Given the description of an element on the screen output the (x, y) to click on. 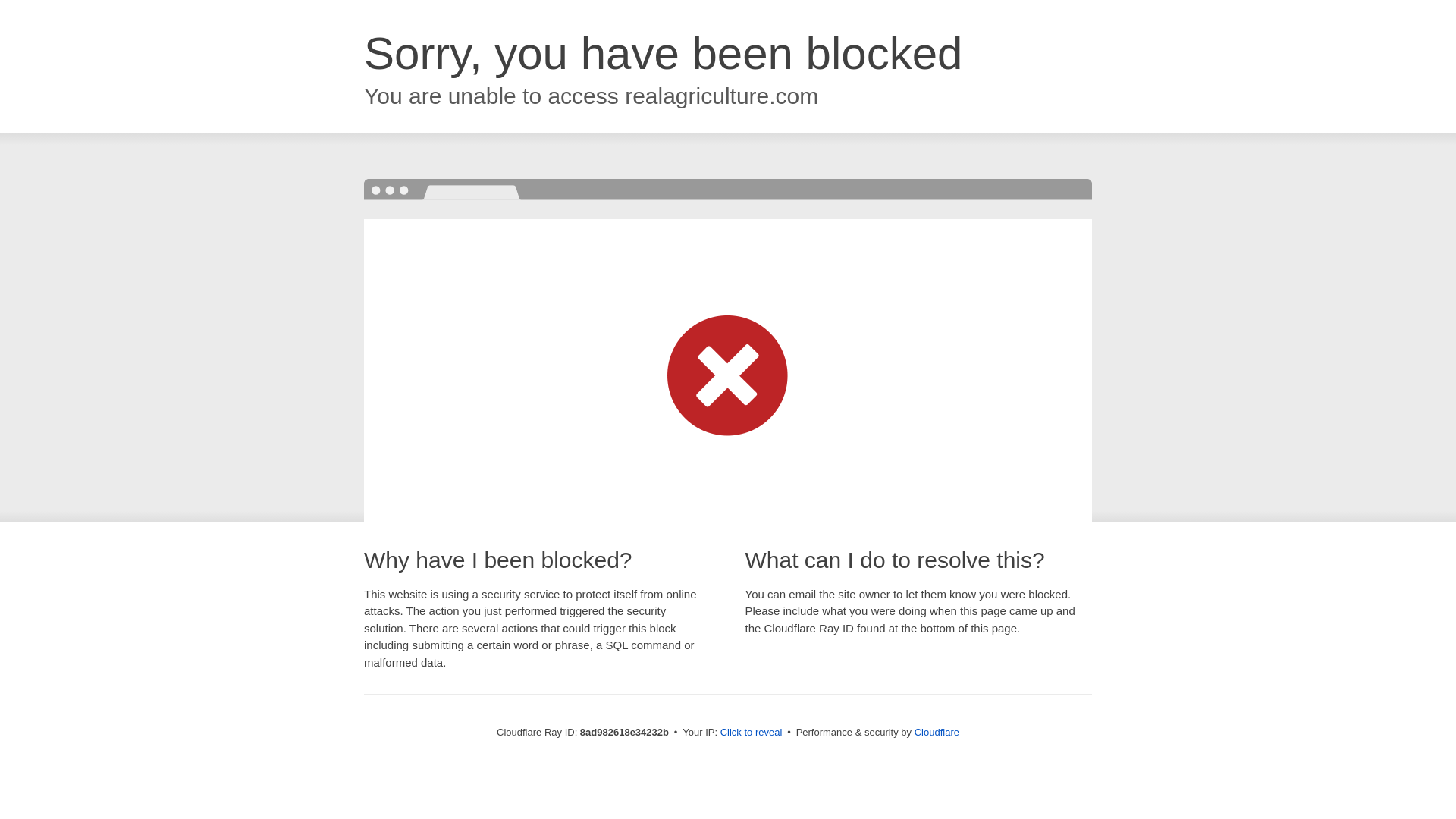
Cloudflare (936, 731)
Click to reveal (751, 732)
